Given the description of an element on the screen output the (x, y) to click on. 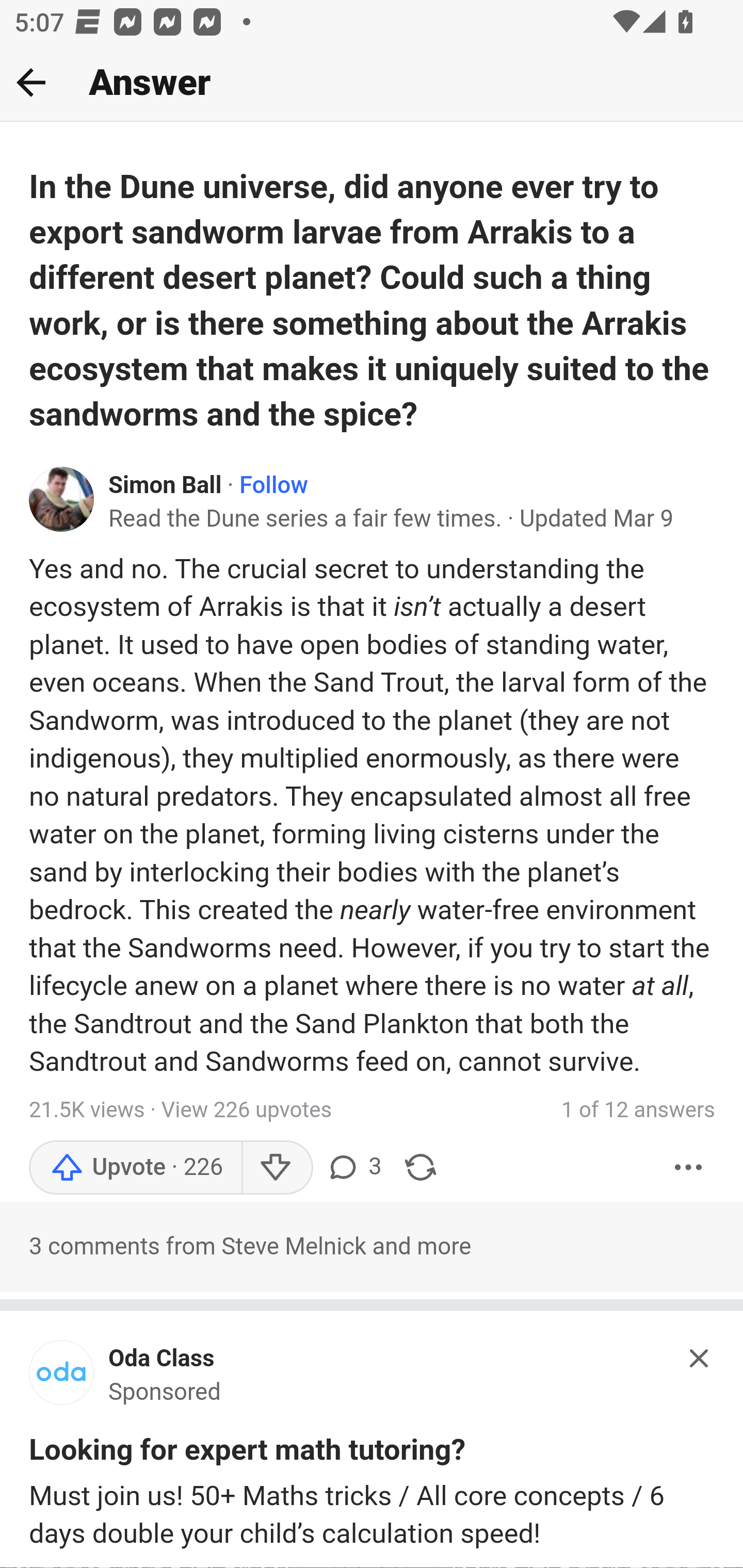
Back Answer (371, 82)
Back (30, 82)
Profile photo for Simon Ball (61, 499)
Simon Ball (165, 484)
Follow (273, 484)
Updated Mar 9 Updated  Mar 9 (596, 519)
View 226 upvotes (246, 1110)
1 of 12 answers (637, 1109)
Upvote (135, 1166)
Downvote (277, 1166)
3 comments (353, 1166)
Share (420, 1166)
More (688, 1166)
3 comments from Steve Melnick and more (371, 1247)
Hide (699, 1357)
main-qimg-51301a90d2e7e492a131a11ddc83a0a0 (61, 1377)
Oda Class (161, 1359)
Sponsored (165, 1393)
Looking for expert math tutoring? (246, 1452)
